Given the description of an element on the screen output the (x, y) to click on. 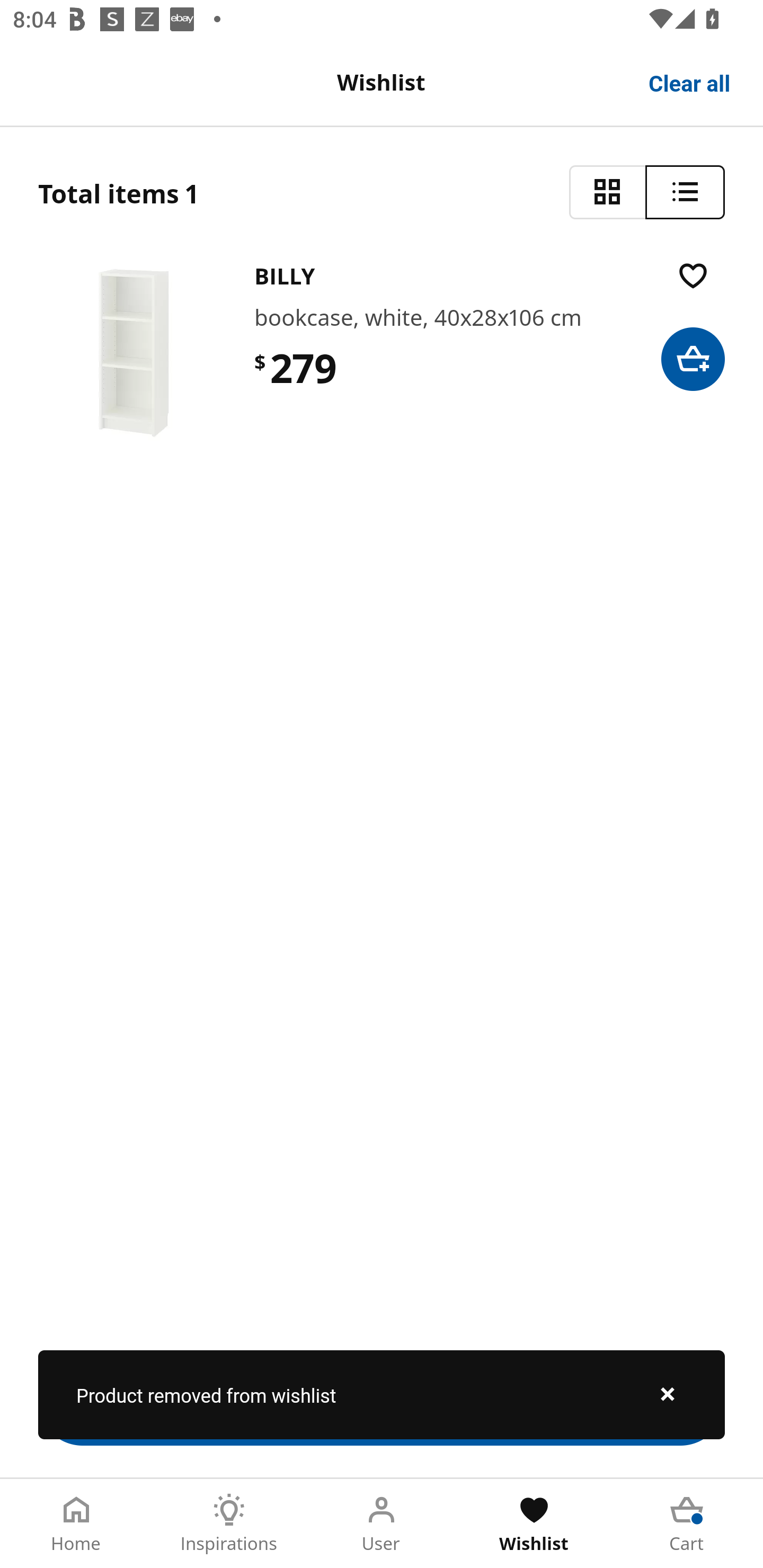
Clear all (689, 81)
​B​I​L​L​Y​
bookcase, white, 40x28x106 cm
$
279 (381, 352)
Product removed from wishlist (381, 1394)
Home
Tab 1 of 5 (76, 1522)
Inspirations
Tab 2 of 5 (228, 1522)
User
Tab 3 of 5 (381, 1522)
Wishlist
Tab 4 of 5 (533, 1522)
Cart
Tab 5 of 5 (686, 1522)
